Given the description of an element on the screen output the (x, y) to click on. 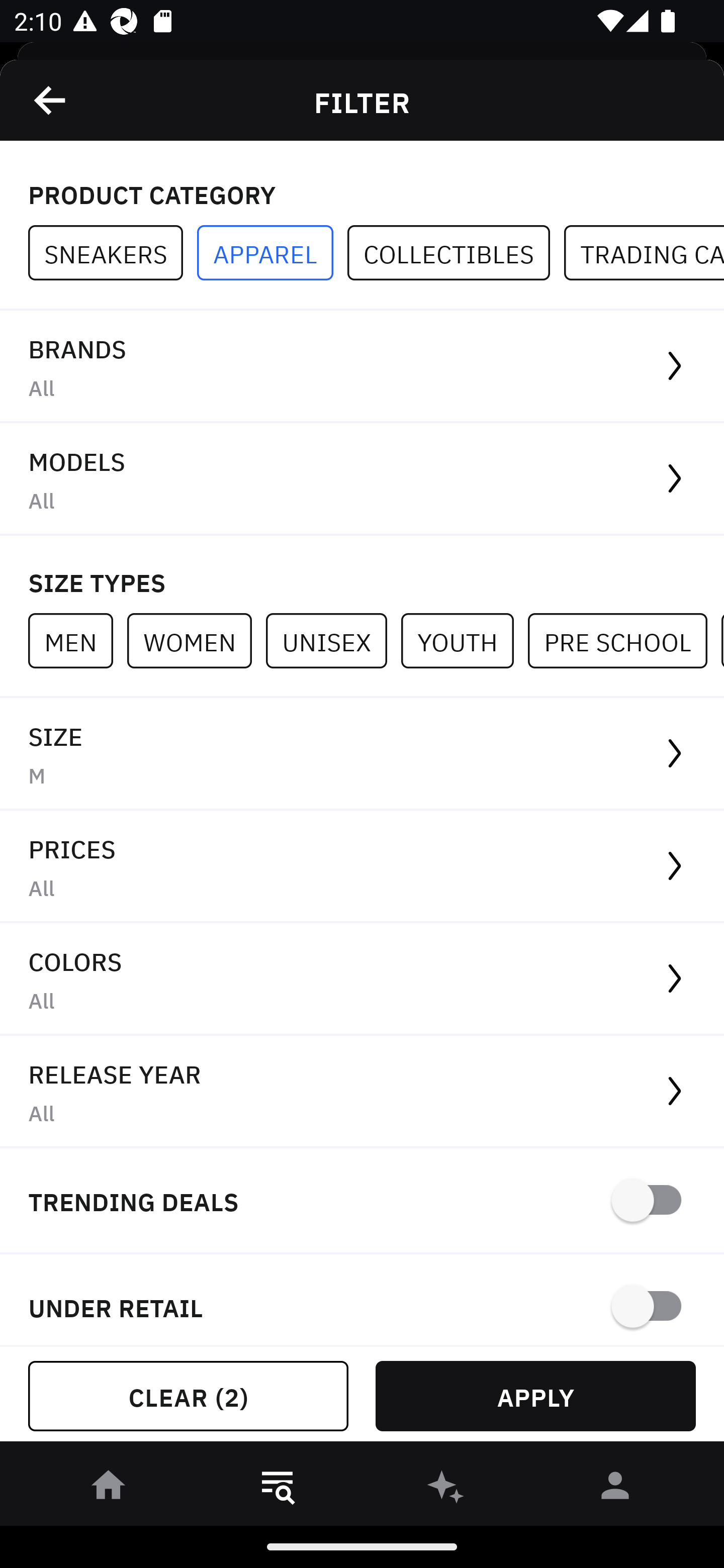
 (50, 100)
SNEAKERS (112, 252)
APPAREL (271, 252)
COLLECTIBLES (455, 252)
TRADING CARDS (643, 252)
BRANDS All (362, 366)
MODELS All (362, 479)
MEN (77, 640)
WOMEN (196, 640)
UNISEX (333, 640)
YOUTH (464, 640)
PRE SCHOOL (624, 640)
SIZE M (362, 753)
PRICES All (362, 866)
COLORS All (362, 979)
RELEASE YEAR All (362, 1091)
TRENDING DEALS (362, 1200)
UNDER RETAIL (362, 1299)
CLEAR (2) (188, 1396)
APPLY (535, 1396)
󰋜 (108, 1488)
󱎸 (277, 1488)
󰫢 (446, 1488)
󰀄 (615, 1488)
